Given the description of an element on the screen output the (x, y) to click on. 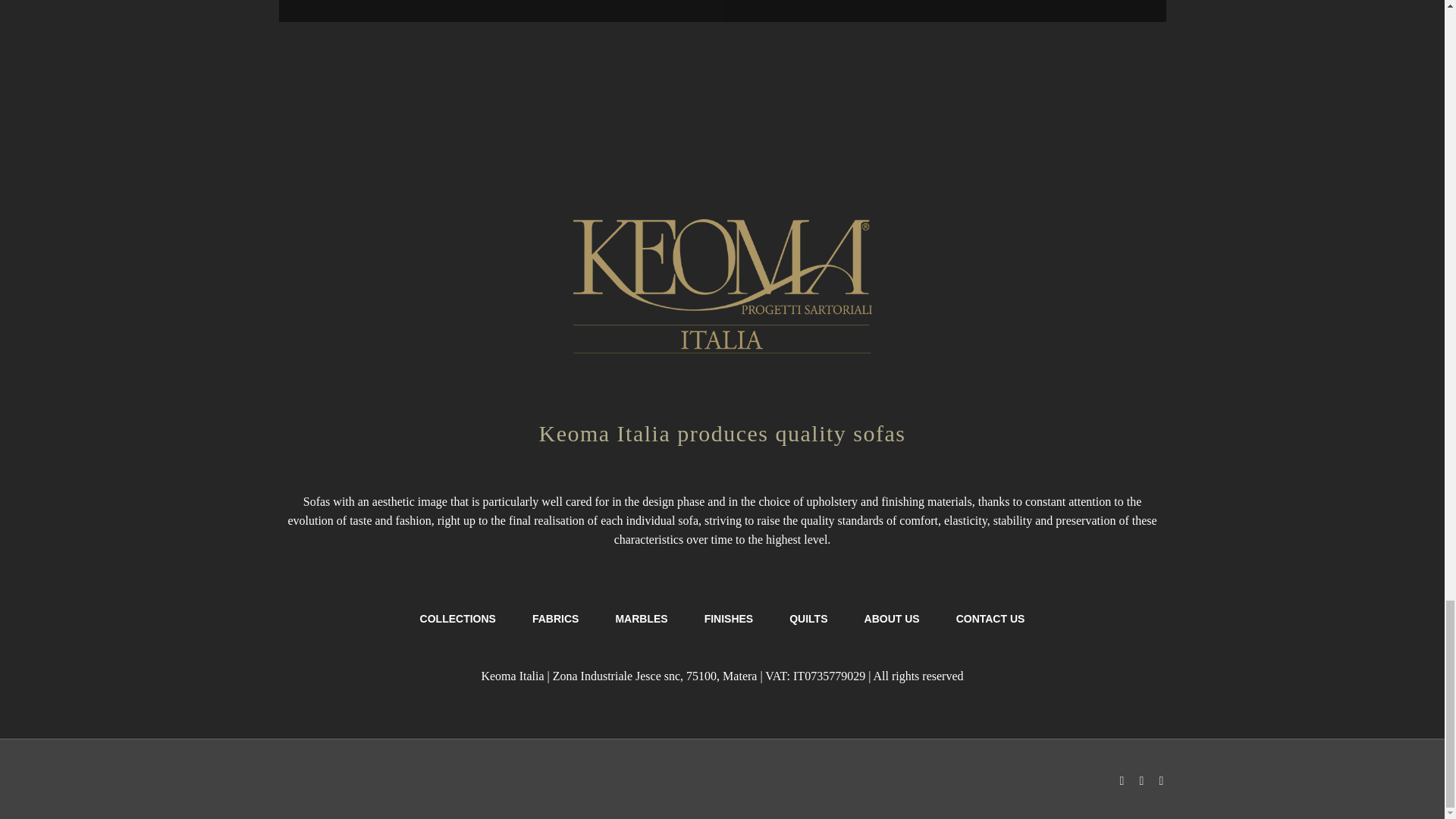
ABOUT US (892, 618)
FABRICS (555, 618)
COLLECTIONS (458, 618)
Pinterest (1161, 780)
QUILTS (808, 618)
CONTACT US (990, 618)
Instagram (1141, 780)
FINISHES (729, 618)
MARBLES (640, 618)
Facebook (1122, 780)
